Given the description of an element on the screen output the (x, y) to click on. 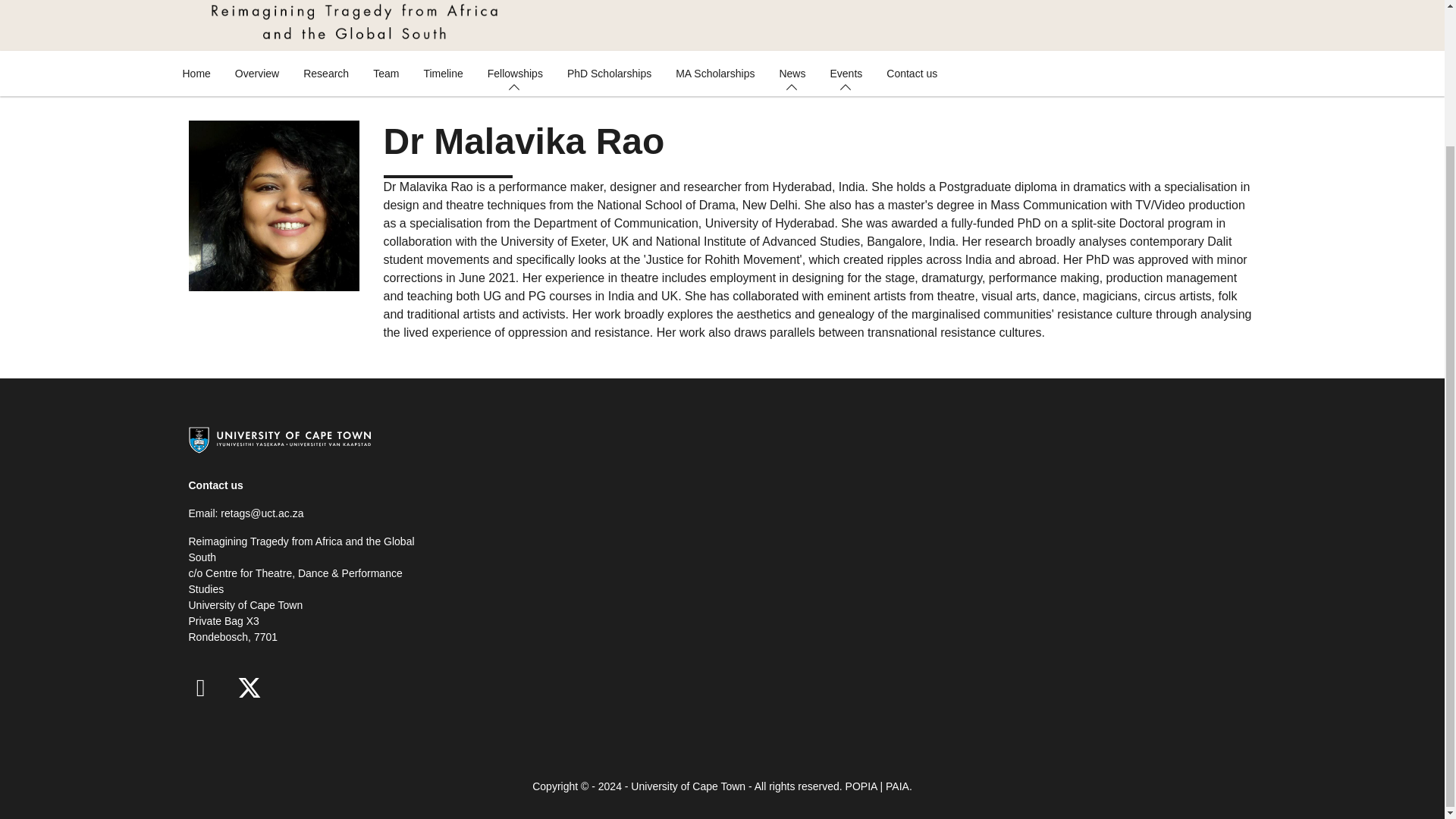
Team (385, 73)
PhD Scholarships (608, 73)
News (791, 73)
Fellowships (515, 73)
Events (845, 73)
Timeline (442, 73)
MA Scholarships (715, 73)
Home (196, 73)
Overview (256, 73)
Research (326, 73)
